Given the description of an element on the screen output the (x, y) to click on. 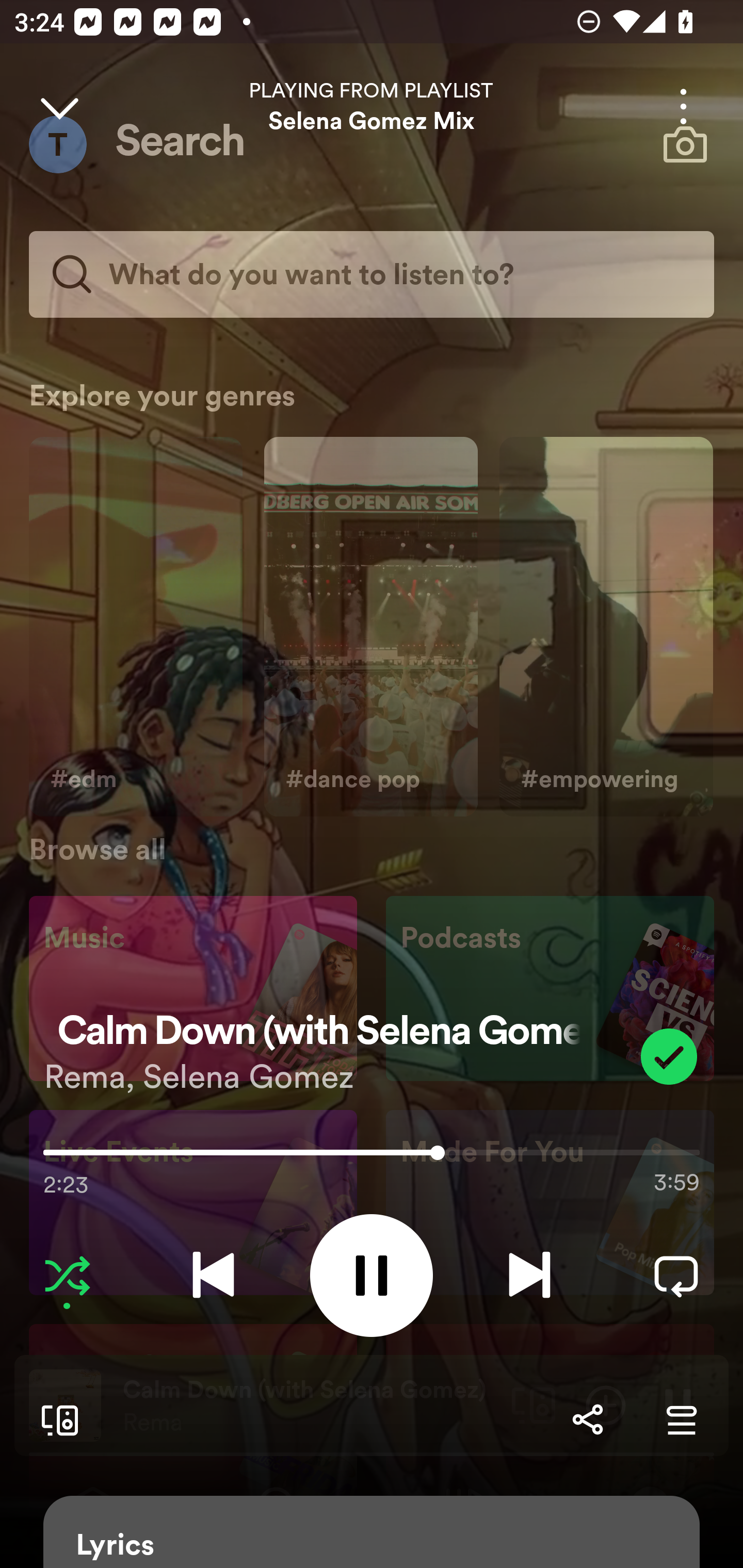
Close (59, 106)
PLAYING FROM PLAYLIST Selena Gomez Mix (371, 106)
Item added (669, 1056)
2:23 3:59 143794.0 Use volume keys to adjust (371, 1157)
Pause (371, 1275)
Previous (212, 1275)
Next (529, 1275)
Stop shuffling tracks (66, 1275)
Repeat (676, 1275)
Share (587, 1419)
Go to Queue (681, 1419)
Connect to a device. Opens the devices menu (55, 1419)
Lyrics (371, 1531)
